Given the description of an element on the screen output the (x, y) to click on. 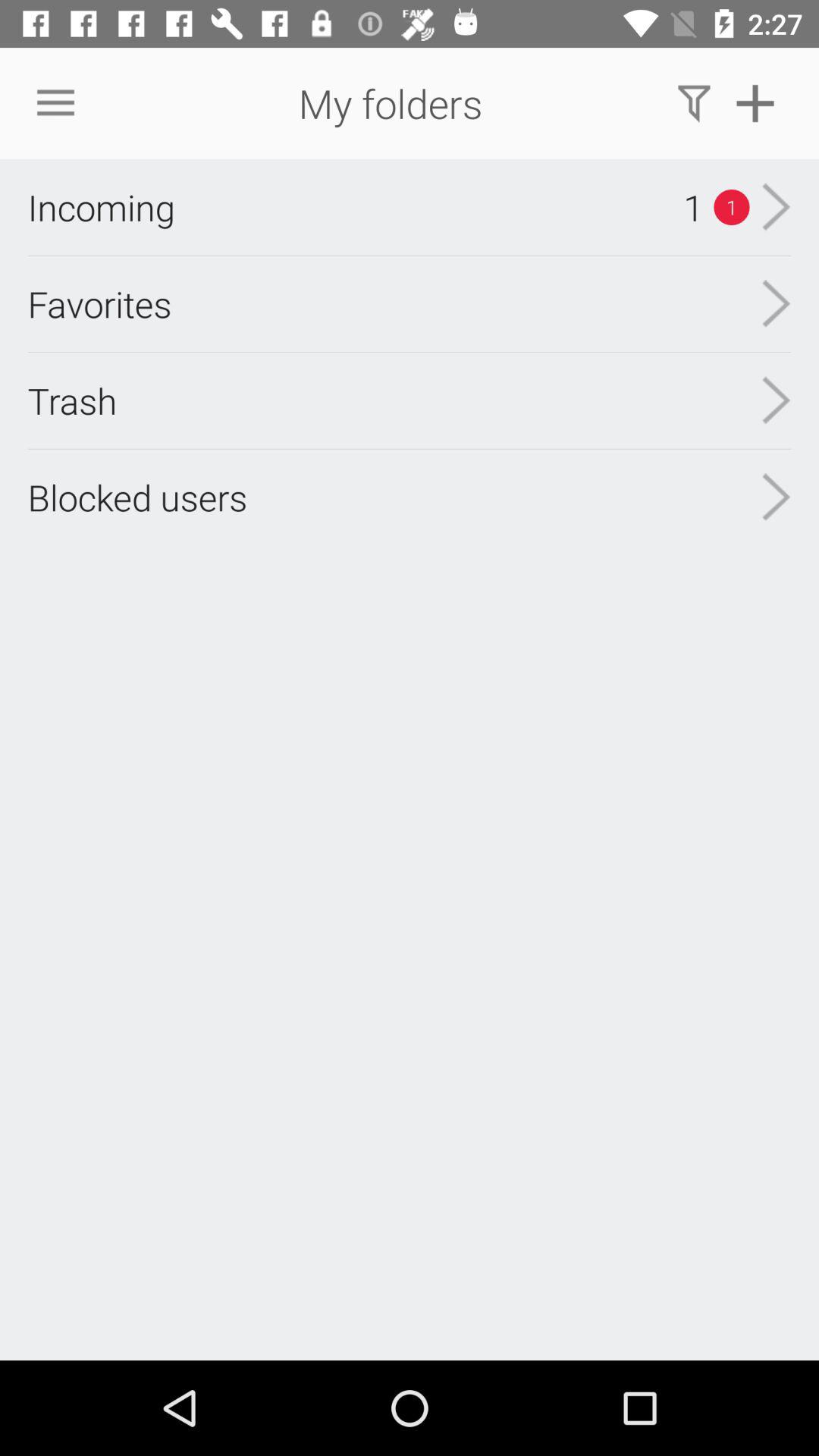
choose the item to the right of the blocked users (776, 400)
